Given the description of an element on the screen output the (x, y) to click on. 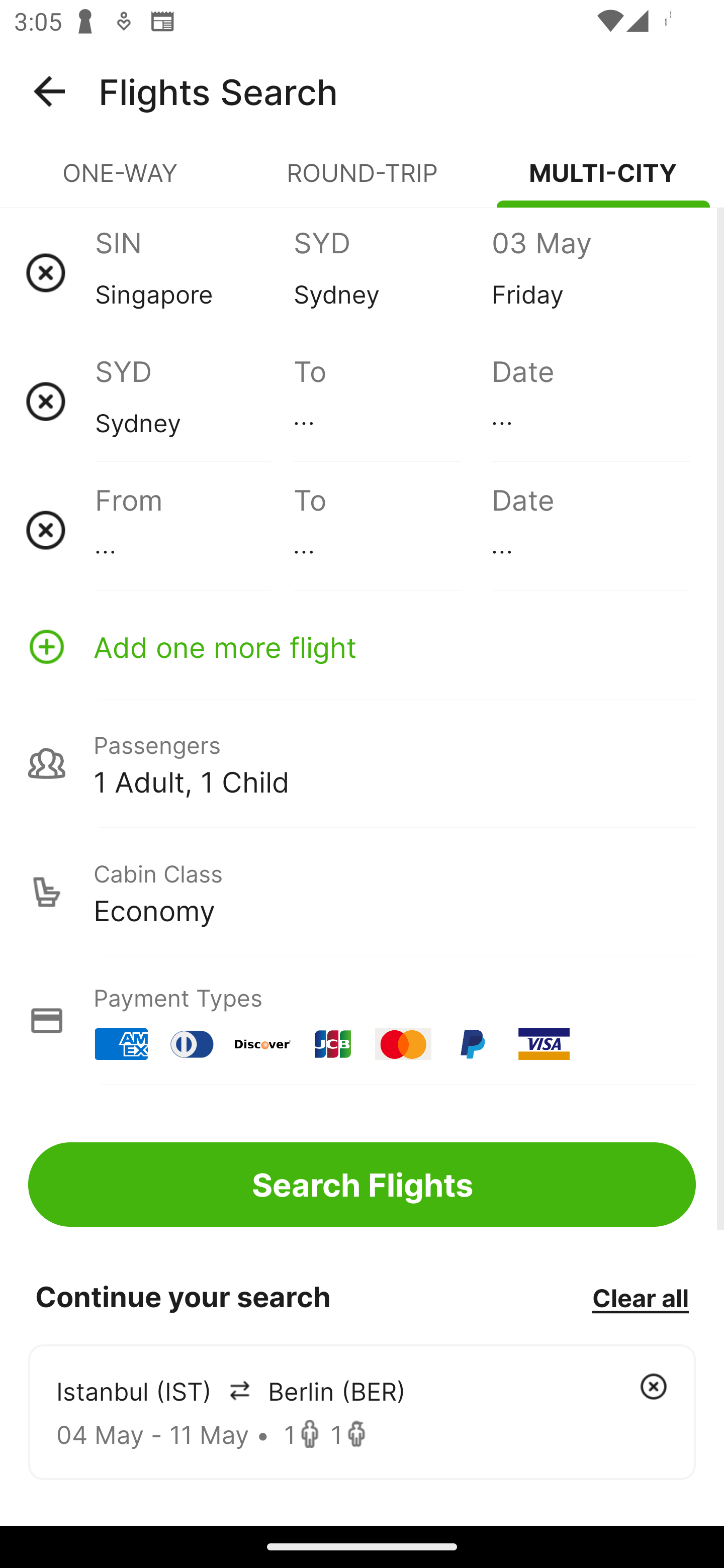
ONE-WAY (120, 180)
ROUND-TRIP (361, 180)
MULTI-CITY (603, 180)
SIN Singapore (193, 272)
SYD Sydney (392, 272)
03 May Friday (590, 272)
SYD Sydney (193, 401)
To ⋯ (392, 401)
Date ⋯ (590, 401)
From ⋯ (193, 529)
To ⋯ (392, 529)
Date ⋯ (590, 529)
Add one more flight (362, 646)
Passengers 1 Adult, 1 Child (362, 762)
Cabin Class Economy (362, 891)
Payment Types (362, 1020)
Search Flights (361, 1184)
Clear all (640, 1297)
